Given the description of an element on the screen output the (x, y) to click on. 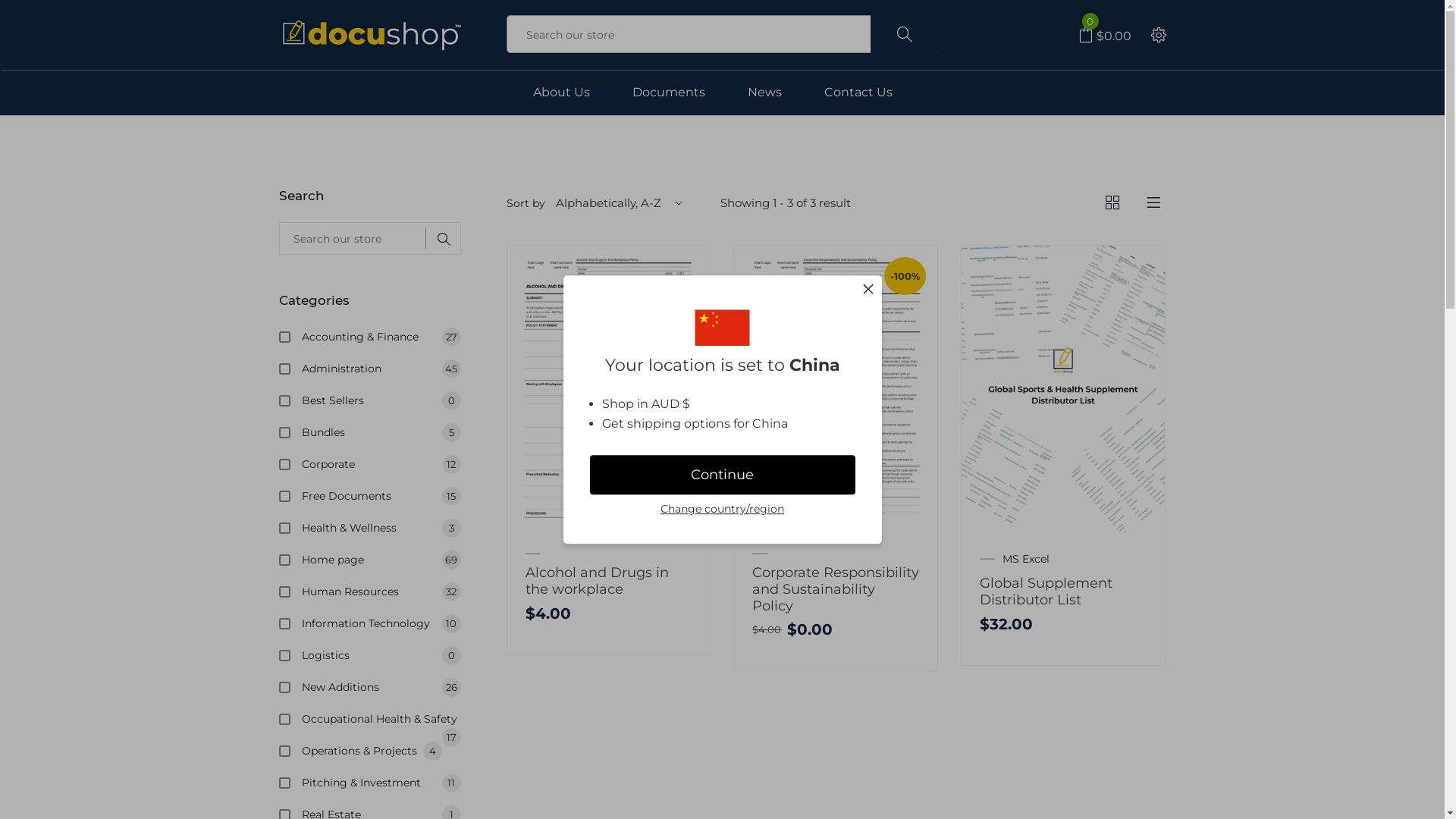
0
$0.00 Element type: text (1104, 36)
Administration
45 Element type: text (381, 368)
Change country/region Element type: text (722, 509)
Logistics
0 Element type: text (381, 655)
Accounting & Finance
27 Element type: text (381, 336)
Occupational Health & Safety
17 Element type: text (381, 718)
Global Supplement Distributor List Element type: text (1045, 591)
About Us Element type: text (560, 92)
Documents Element type: text (668, 92)
Continue Element type: text (722, 475)
Alcohol and Drugs in the workplace Element type: text (596, 580)
Free Documents
15 Element type: text (381, 495)
Bundles
5 Element type: text (381, 432)
Operations & Projects
4 Element type: text (381, 750)
Best Sellers
0 Element type: text (381, 400)
MS Excel Element type: text (1025, 558)
Home page
69 Element type: text (381, 559)
Human Resources
32 Element type: text (381, 591)
Pitching & Investment
11 Element type: text (381, 782)
Information Technology
10 Element type: text (381, 623)
Corporate Responsibility and Sustainability Policy Element type: text (835, 588)
New Additions
26 Element type: text (381, 686)
Contact Us Element type: text (857, 92)
Corporate
12 Element type: text (381, 464)
Health & Wellness
3 Element type: text (381, 527)
News Element type: text (764, 92)
